Given the description of an element on the screen output the (x, y) to click on. 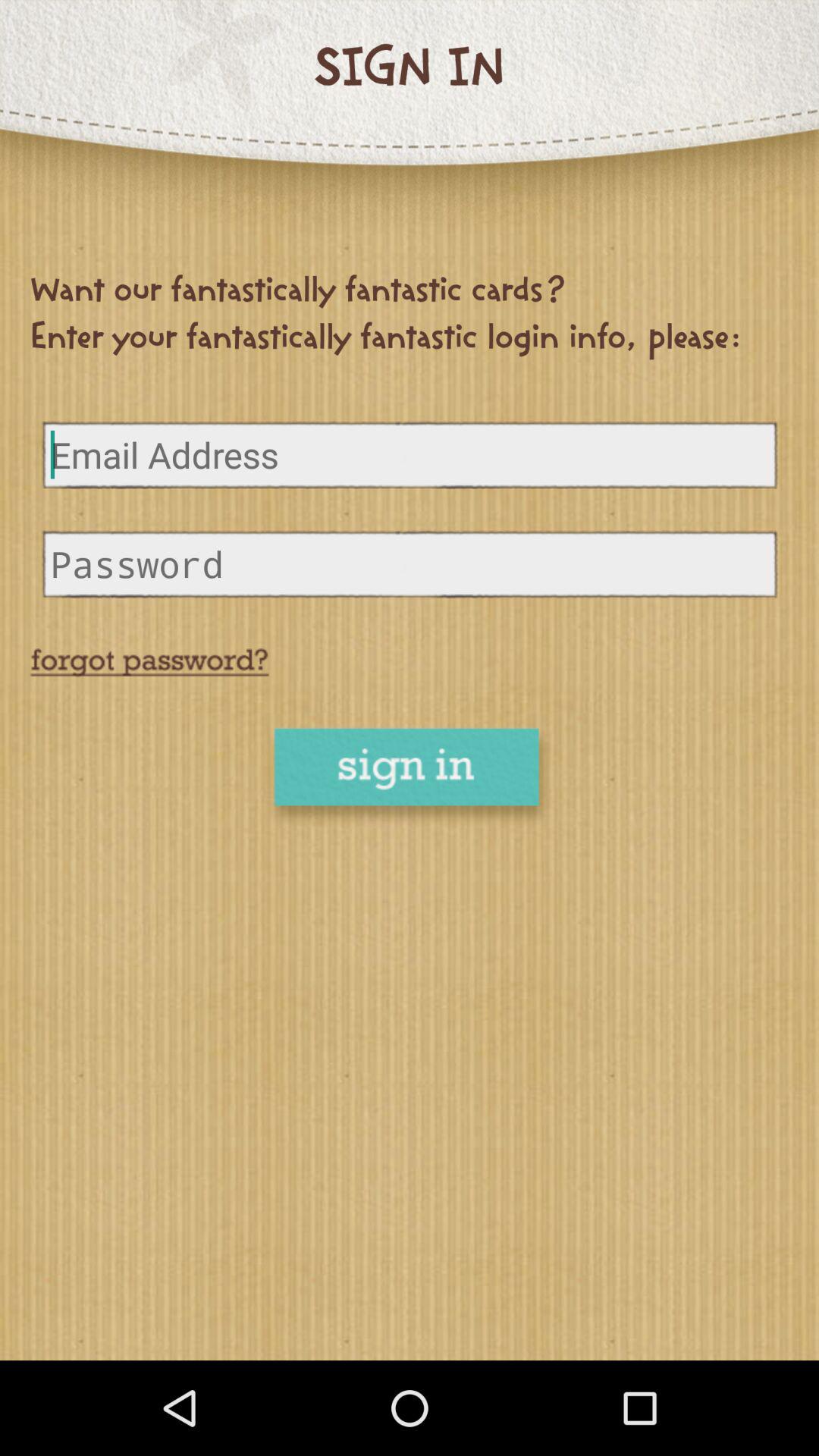
retrieve password (149, 662)
